Given the description of an element on the screen output the (x, y) to click on. 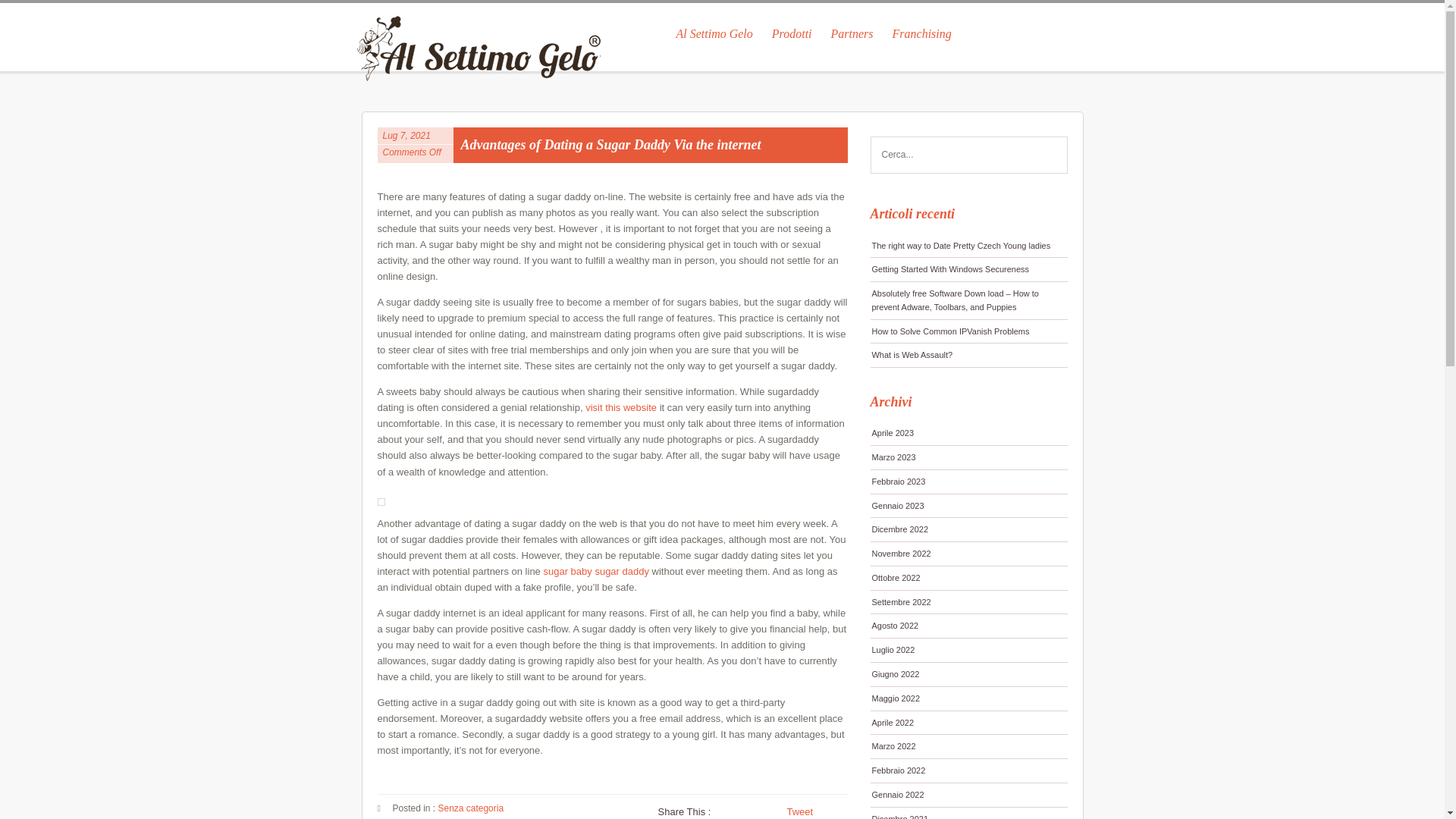
Cerca (1049, 155)
Aprile 2022 (968, 722)
Marzo 2023 (968, 457)
Aprile 2023 (968, 433)
The right way to Date Pretty Czech Young ladies (968, 245)
visit this website (620, 407)
Gennaio 2023 (968, 505)
Settembre 2022 (968, 602)
Ottobre 2022 (968, 577)
Luglio 2022 (968, 649)
Cerca (1049, 155)
Dicembre 2022 (968, 529)
Maggio 2022 (968, 698)
Giugno 2022 (968, 674)
sugar baby sugar daddy (595, 571)
